Given the description of an element on the screen output the (x, y) to click on. 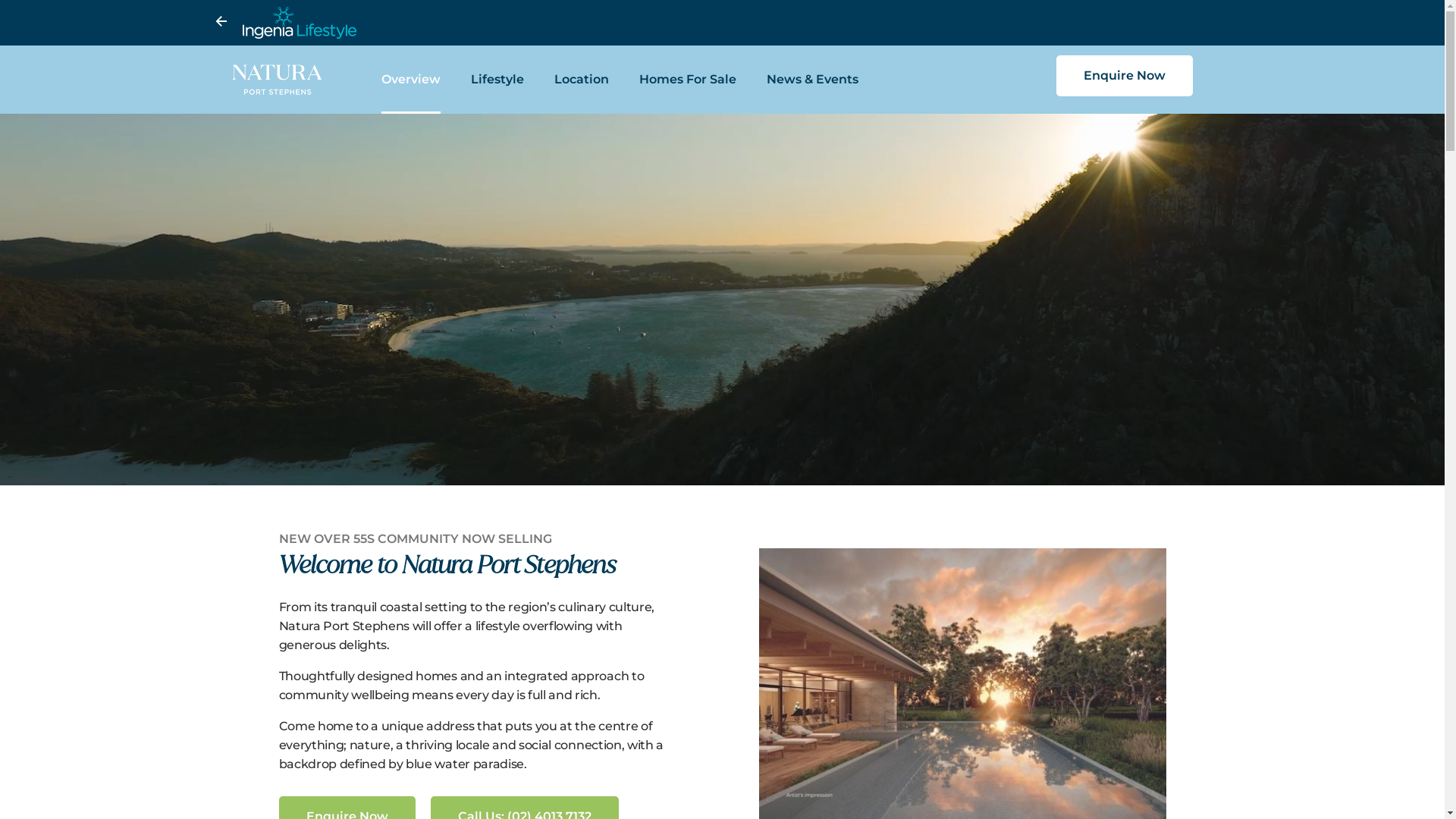
Enquire Now Element type: text (1123, 75)
Ingenia Lifestyle Element type: hover (733, 22)
Overview Element type: text (410, 79)
News & Events Element type: text (812, 79)
Homes For Sale Element type: text (687, 79)
Lifestyle Element type: text (497, 79)
Location Element type: text (581, 79)
